Given the description of an element on the screen output the (x, y) to click on. 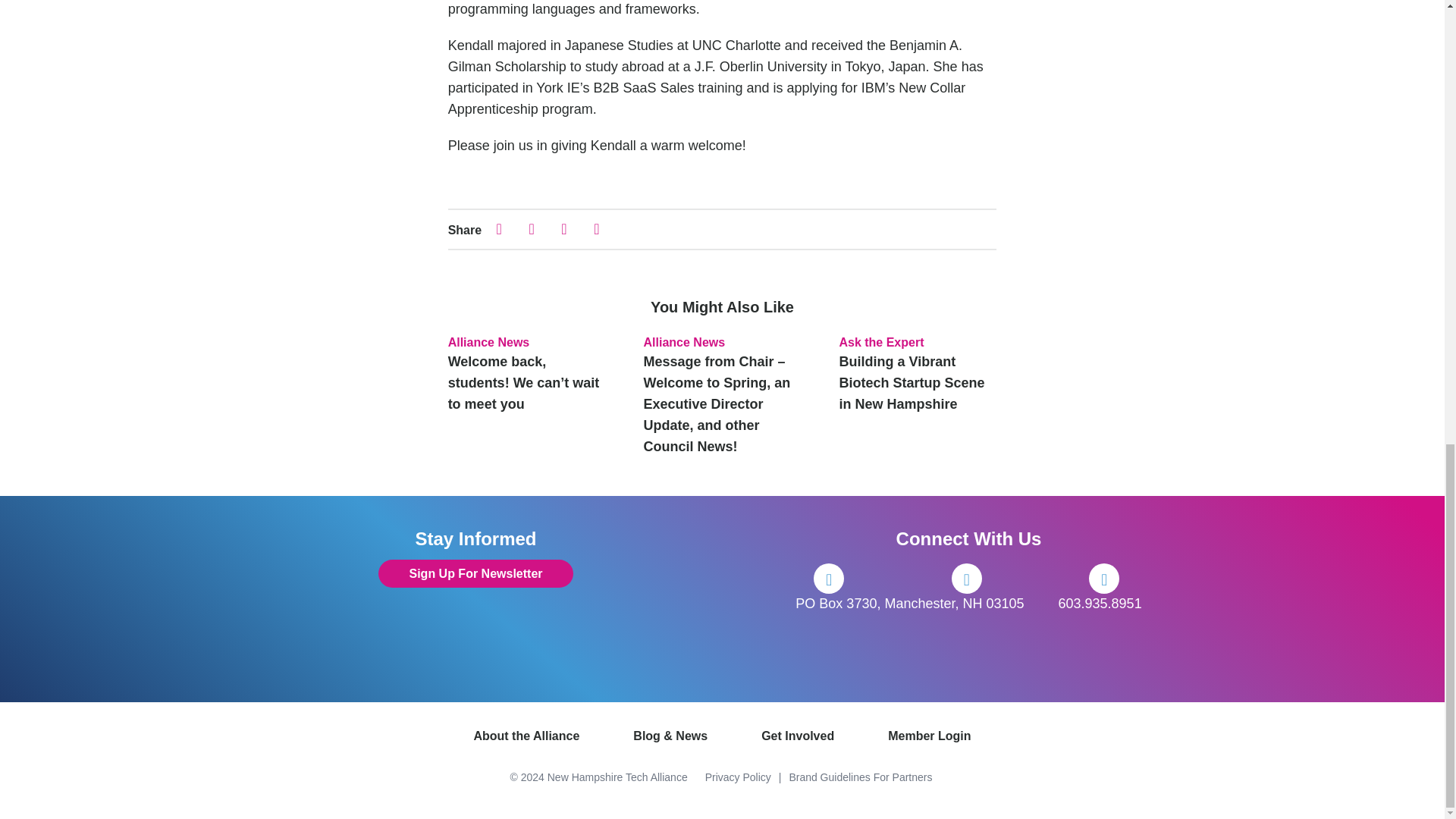
Facebook (828, 578)
Twitter (966, 578)
LinkedIn (1104, 578)
